Given the description of an element on the screen output the (x, y) to click on. 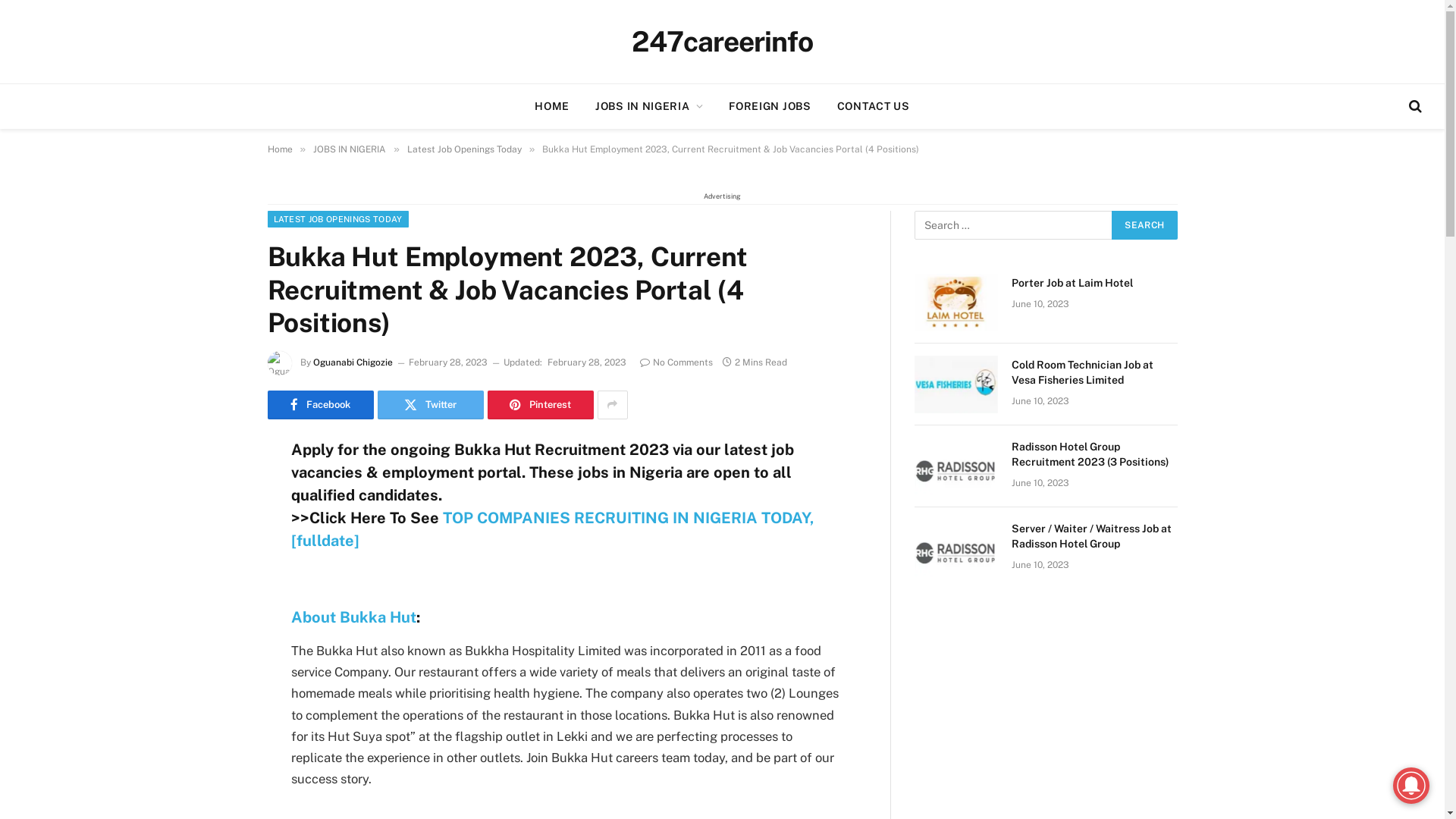
Radisson Hotel Group Recruitment 2023 (3 Positions) Element type: hover (955, 466)
Porter Job at Laim Hotel Element type: text (1094, 282)
HOME Element type: text (551, 106)
TOP COMPANIES RECRUITING IN NIGERIA TODAY, [fulldate] Element type: text (552, 528)
Facebook Element type: text (319, 404)
Search Element type: hover (1413, 106)
247careerinfo Element type: text (721, 41)
FOREIGN JOBS Element type: text (769, 106)
Twitter Element type: text (430, 404)
JOBS IN NIGERIA Element type: text (648, 106)
Cold Room Technician Job at Vesa Fisheries Limited Element type: text (1094, 372)
Show More Social Sharing Element type: hover (612, 404)
Server / Waiter / Waitress Job at Radisson Hotel Group Element type: text (1094, 535)
Search Element type: text (1143, 224)
Home Element type: text (278, 149)
JOBS IN NIGERIA Element type: text (349, 149)
Server / Waiter / Waitress Job at Radisson Hotel Group Element type: hover (955, 548)
LATEST JOB OPENINGS TODAY Element type: text (336, 218)
Radisson Hotel Group Recruitment 2023 (3 Positions) Element type: text (1094, 454)
Latest Job Openings Today Element type: text (464, 149)
About Bukka Hut Element type: text (353, 617)
Pinterest Element type: text (539, 404)
No Comments Element type: text (676, 362)
CONTACT US Element type: text (873, 106)
Cold Room Technician Job at Vesa Fisheries Limited Element type: hover (955, 384)
Porter Job at Laim Hotel Element type: hover (955, 302)
Oguanabi Chigozie Element type: text (352, 362)
